Given the description of an element on the screen output the (x, y) to click on. 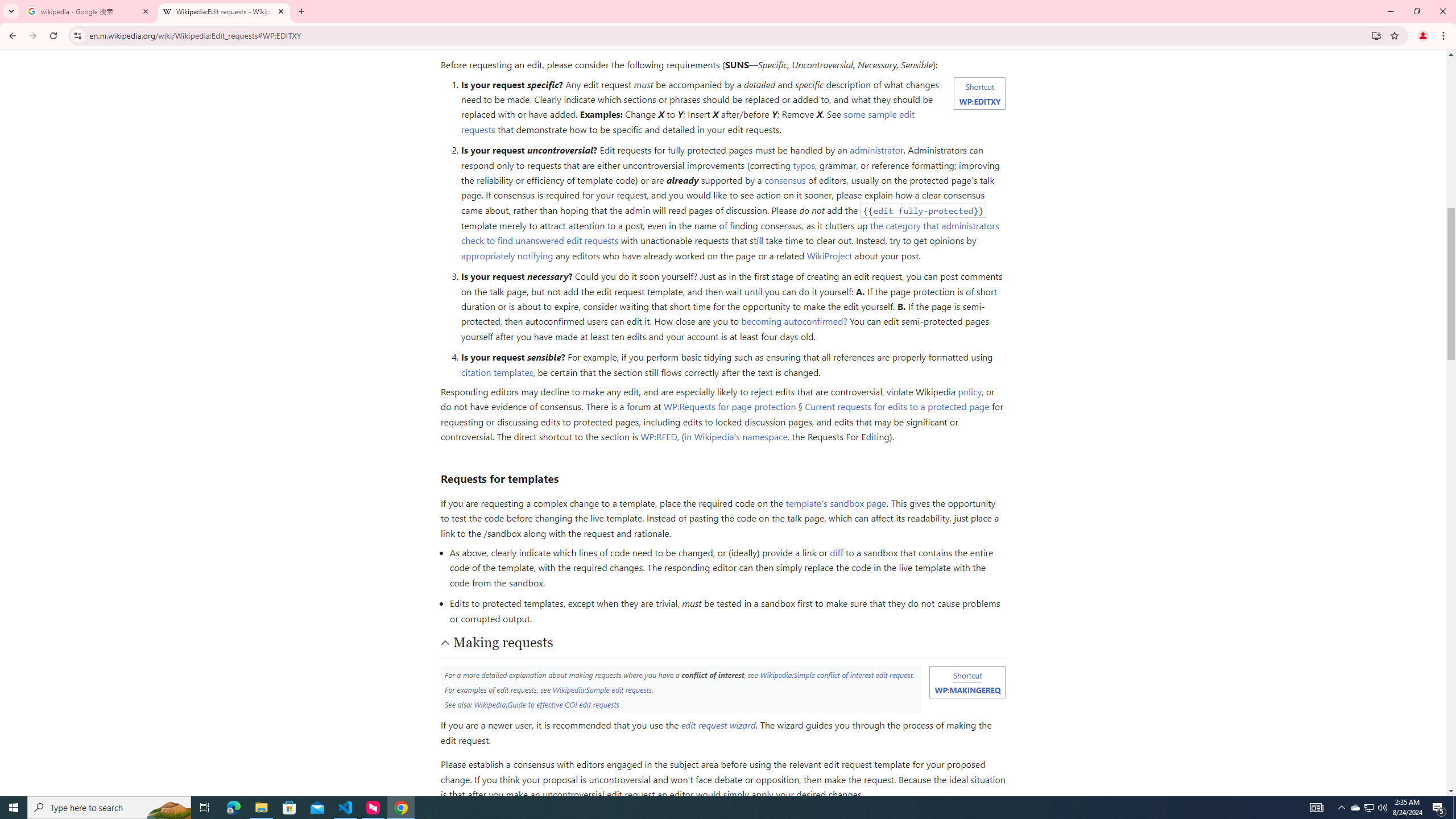
some sample edit requests (687, 121)
template's sandbox page (835, 502)
diff (836, 552)
consensus (785, 179)
typos (804, 164)
citation templates (496, 372)
edit fully-protected (923, 210)
in Wikipedia's namespace (735, 436)
